Given the description of an element on the screen output the (x, y) to click on. 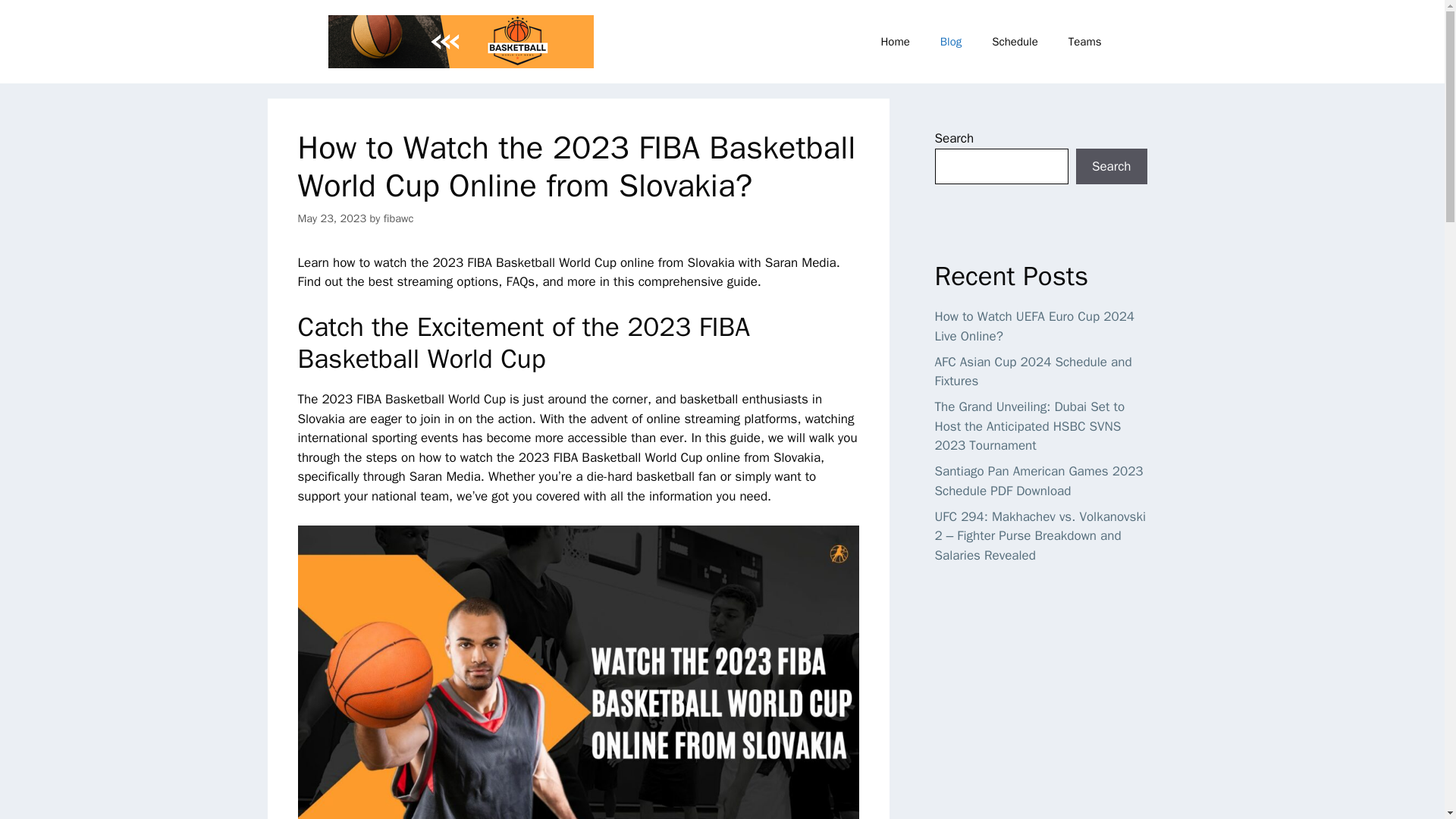
View all posts by fibawc (398, 218)
How to Watch UEFA Euro Cup 2024 Live Online? (1034, 325)
Home (894, 41)
Santiago Pan American Games 2023 Schedule PDF Download (1038, 480)
Schedule (1014, 41)
Search (1111, 166)
fibawc (398, 218)
Blog (950, 41)
Teams (1084, 41)
